Given the description of an element on the screen output the (x, y) to click on. 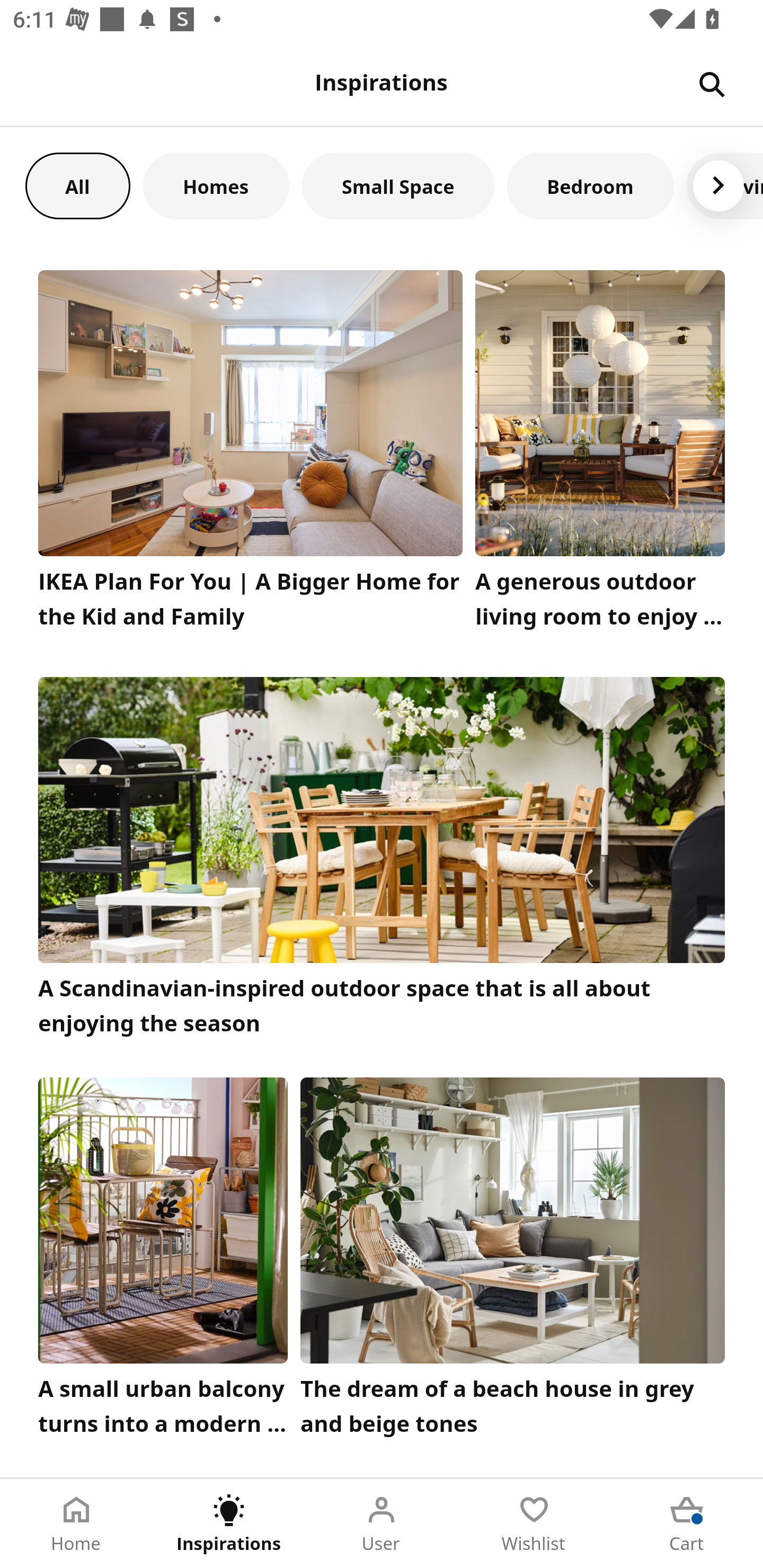
All (77, 185)
Homes (216, 185)
Small Space (398, 185)
Bedroom (590, 185)
The dream of a beach house in grey and beige tones (512, 1261)
Home
Tab 1 of 5 (76, 1522)
Inspirations
Tab 2 of 5 (228, 1522)
User
Tab 3 of 5 (381, 1522)
Wishlist
Tab 4 of 5 (533, 1522)
Cart
Tab 5 of 5 (686, 1522)
